Given the description of an element on the screen output the (x, y) to click on. 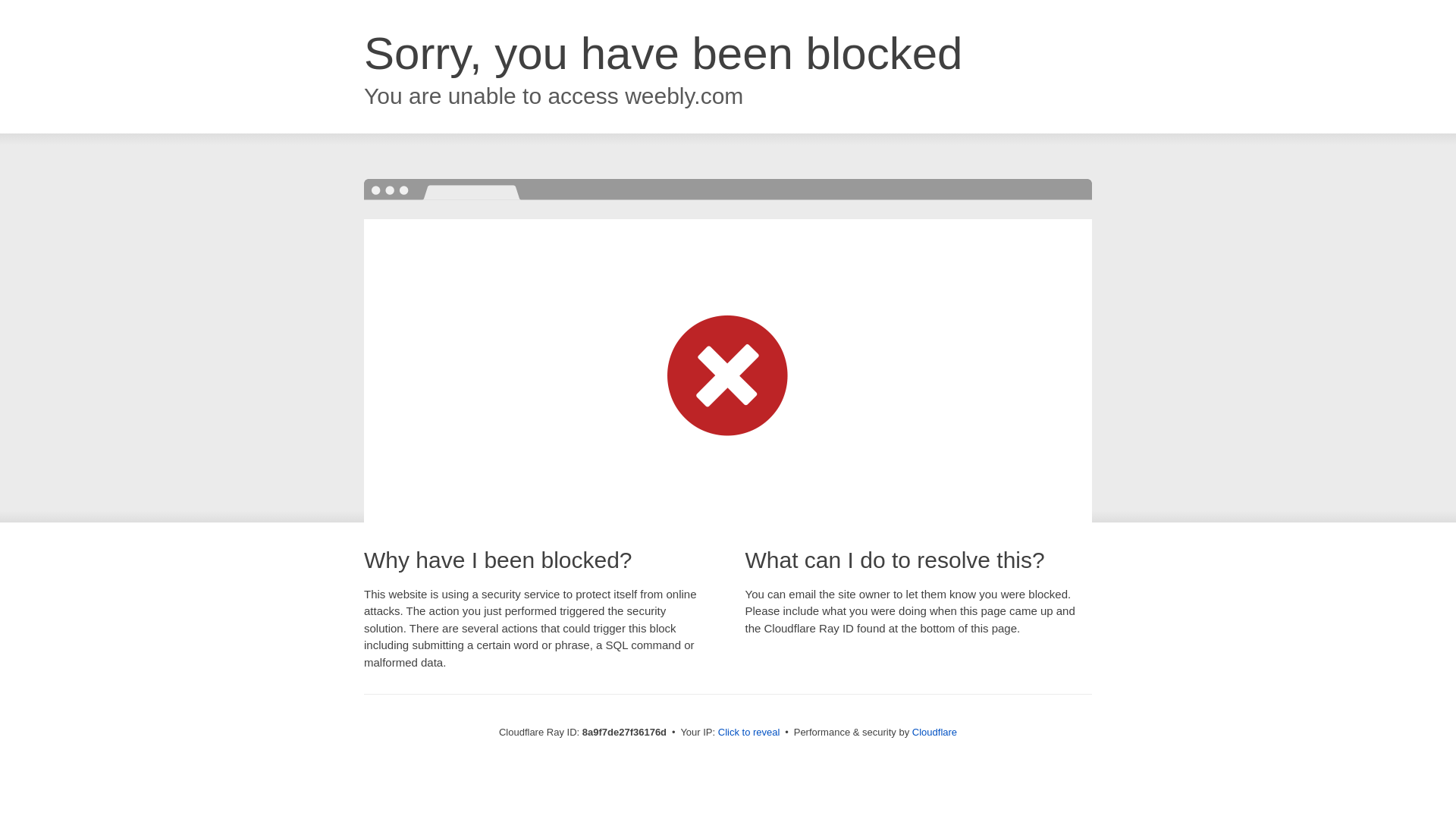
Cloudflare (934, 731)
Click to reveal (748, 732)
